Given the description of an element on the screen output the (x, y) to click on. 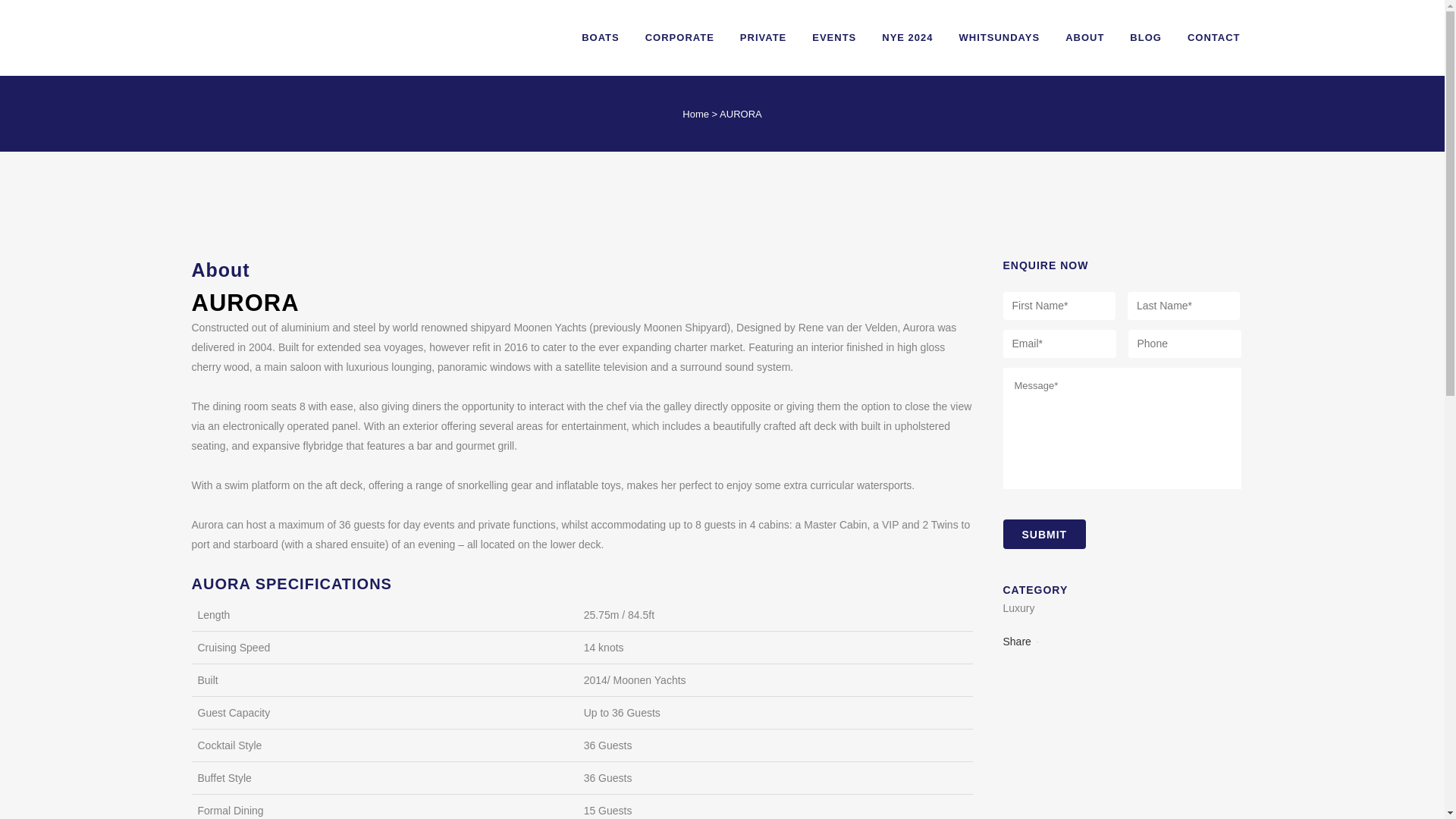
EVENTS (834, 38)
NYE 2024 (906, 38)
Submit (1044, 533)
CORPORATE (678, 38)
PRIVATE (762, 38)
WHITSUNDAYS (999, 38)
CONTACT (1213, 38)
